Given the description of an element on the screen output the (x, y) to click on. 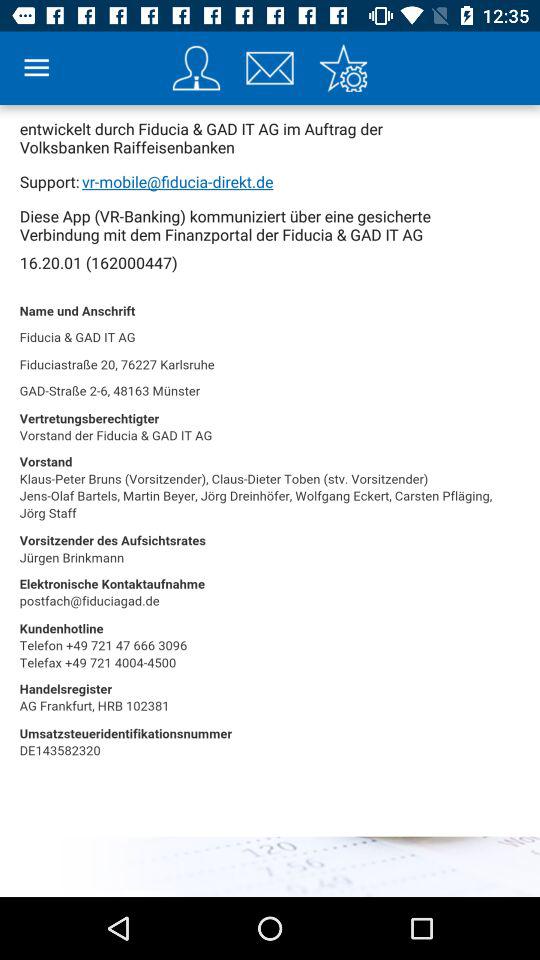
contest (196, 67)
